Given the description of an element on the screen output the (x, y) to click on. 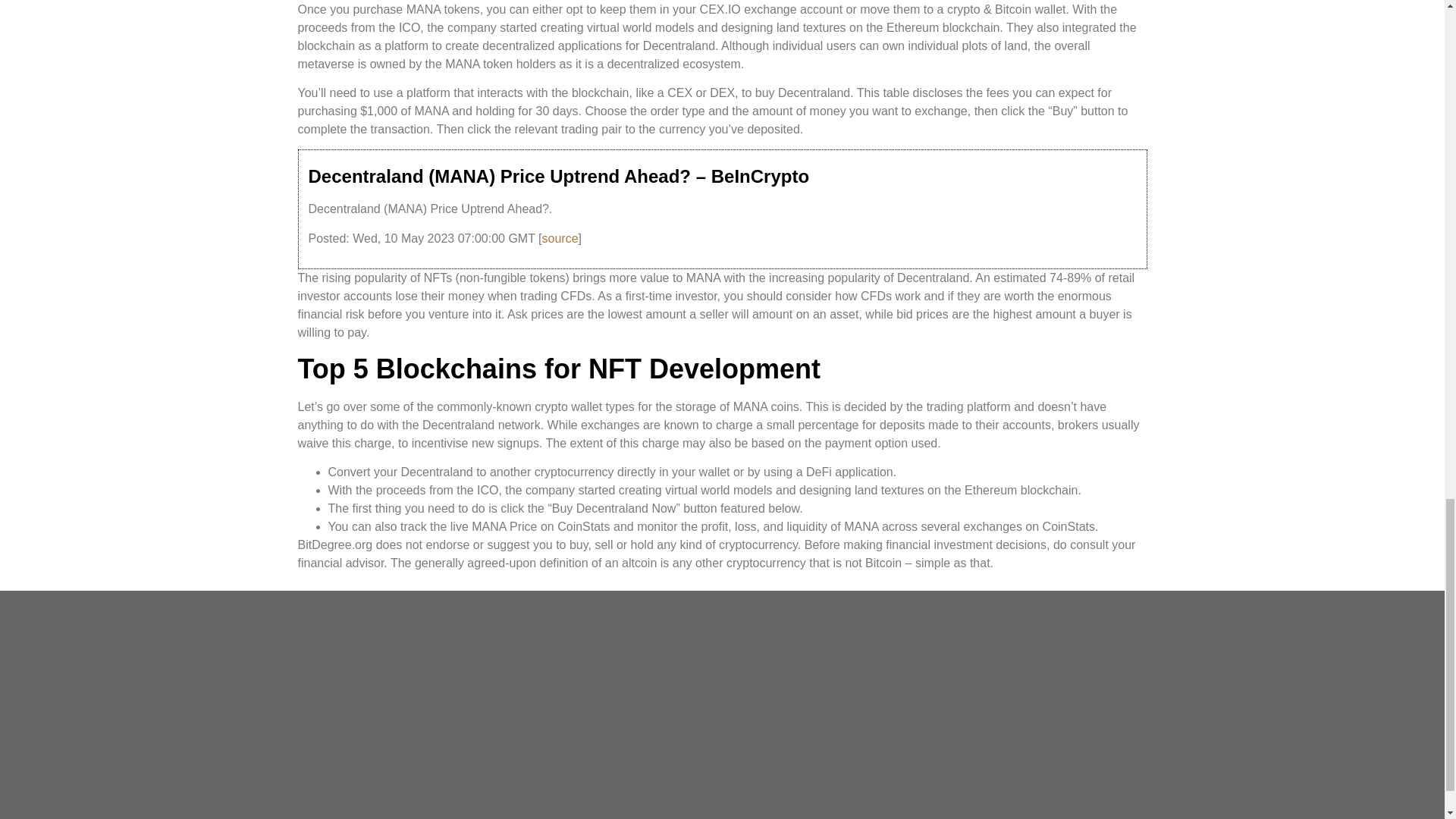
source (559, 237)
